Given the description of an element on the screen output the (x, y) to click on. 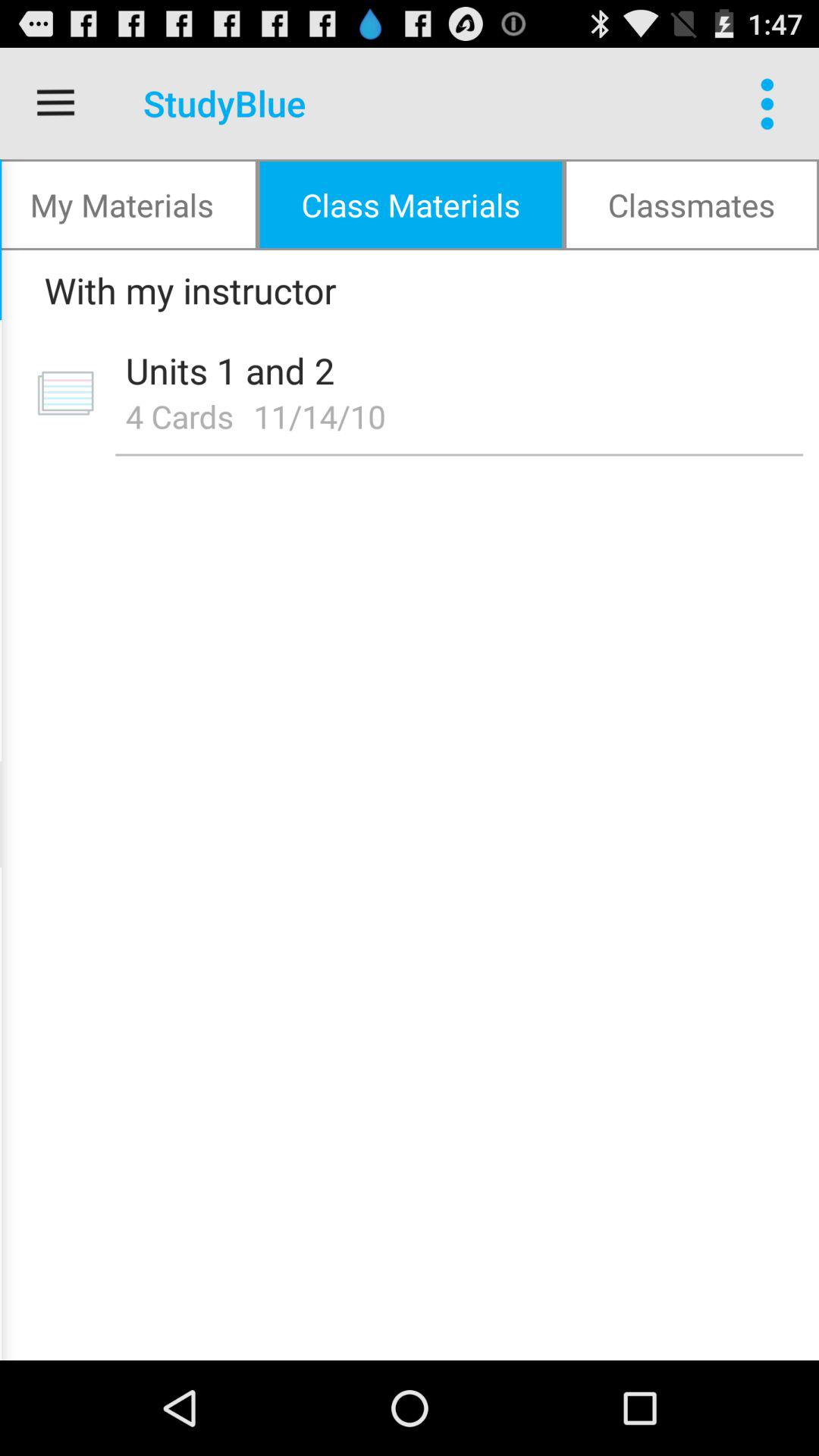
press classmates icon (691, 204)
